Given the description of an element on the screen output the (x, y) to click on. 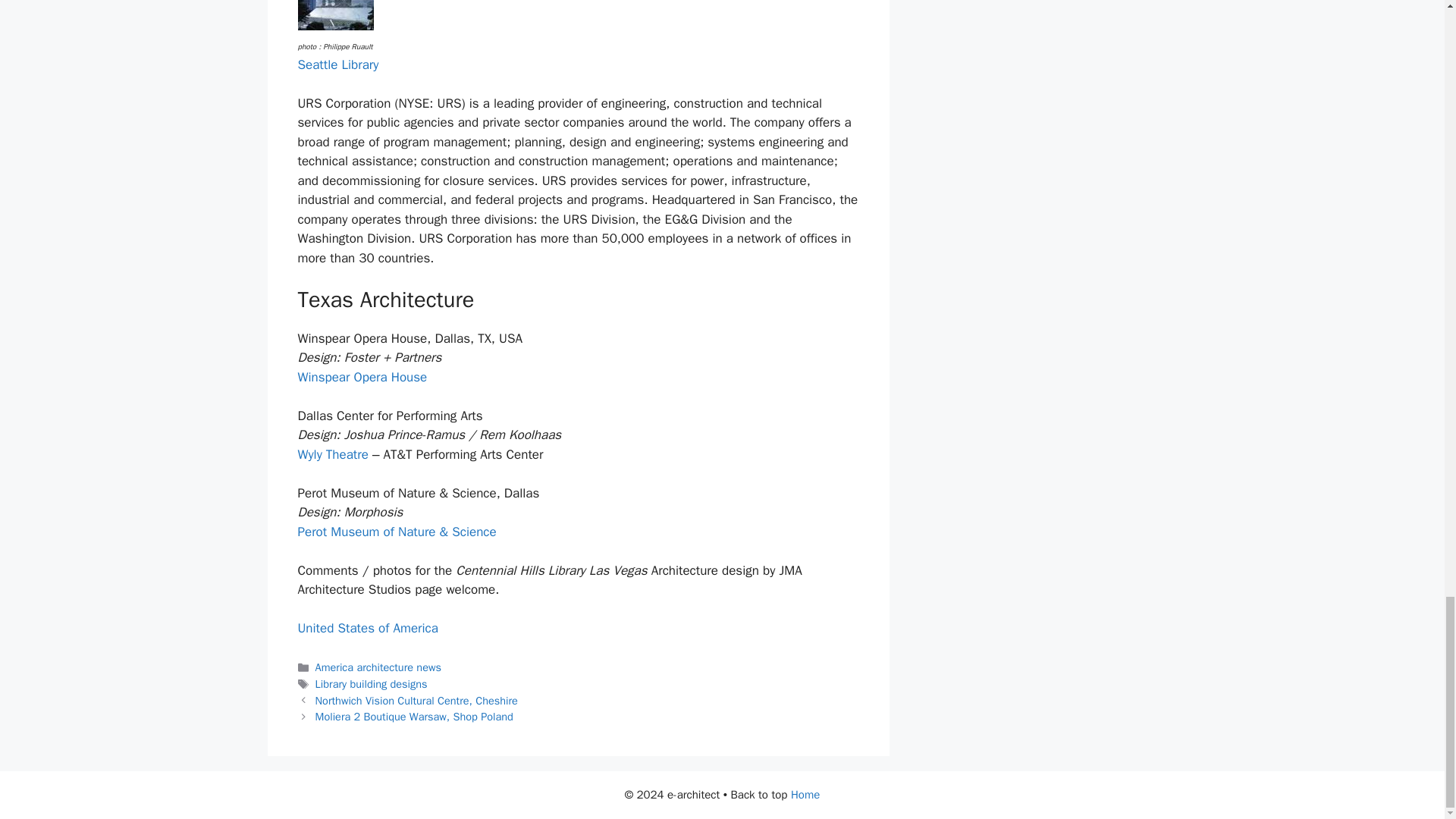
Wyly Theatre (332, 454)
Seattle Library (337, 64)
Winspear Opera House (361, 376)
America architecture news (378, 667)
United States of America (367, 627)
Library building designs (371, 684)
